Given the description of an element on the screen output the (x, y) to click on. 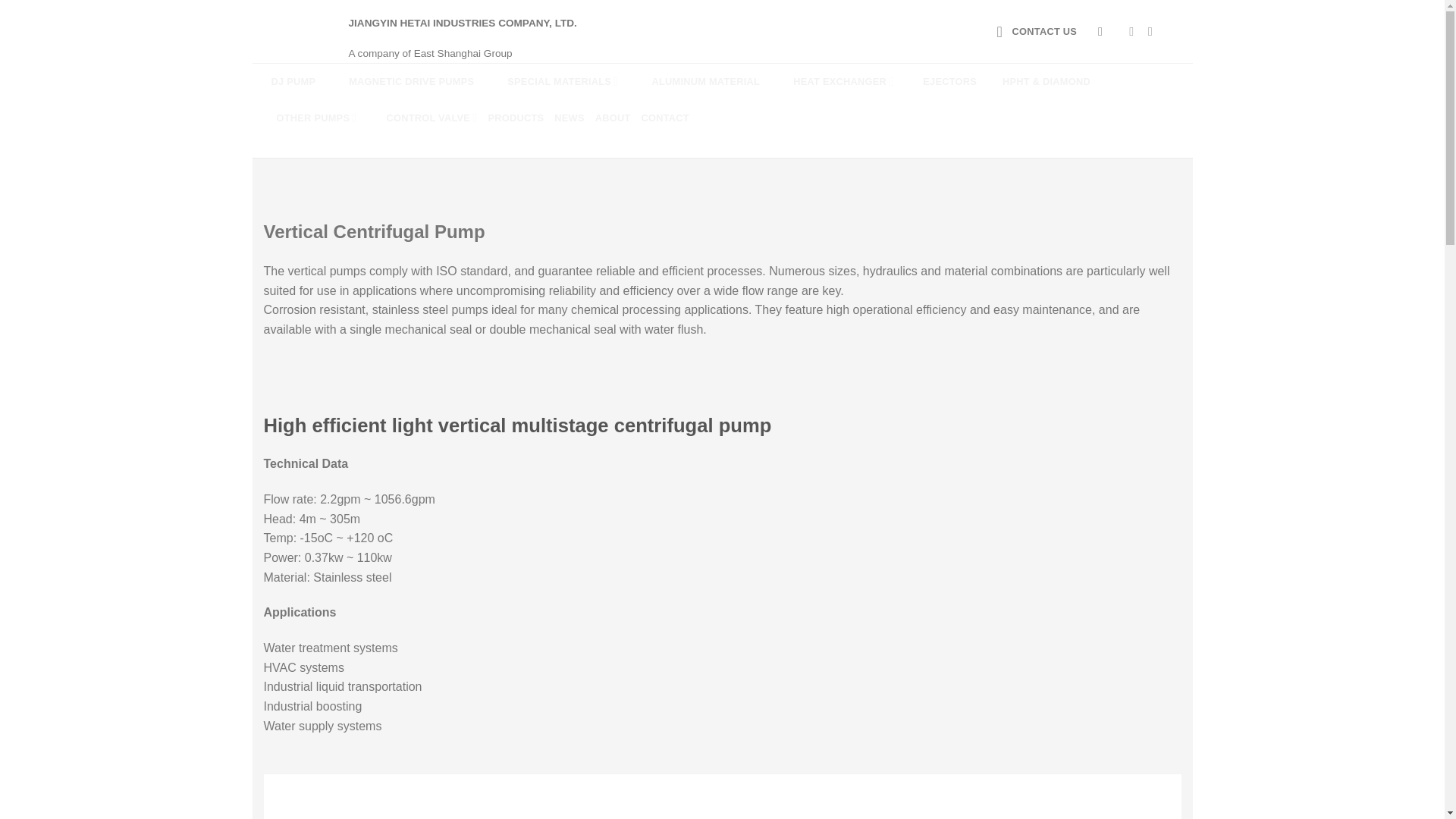
Send us an email (1154, 30)
ALUMINUM MATERIAL (694, 81)
MAGNETIC DRIVE PUMPS (400, 81)
CONTROL VALVE (421, 117)
Follow on Facebook (1135, 30)
HEAT EXCHANGER (831, 81)
DJ PUMP (283, 82)
Follow on LinkedIn (1171, 30)
OTHER PUMPS (306, 117)
Sign up for Newsletter (1037, 31)
SPECIAL MATERIALS (550, 81)
CONTACT US (1037, 31)
EJECTORS (940, 82)
Hetai Industry - JIANGYIN HETAI INDUSTRIES CO., LTD. (287, 30)
